Given the description of an element on the screen output the (x, y) to click on. 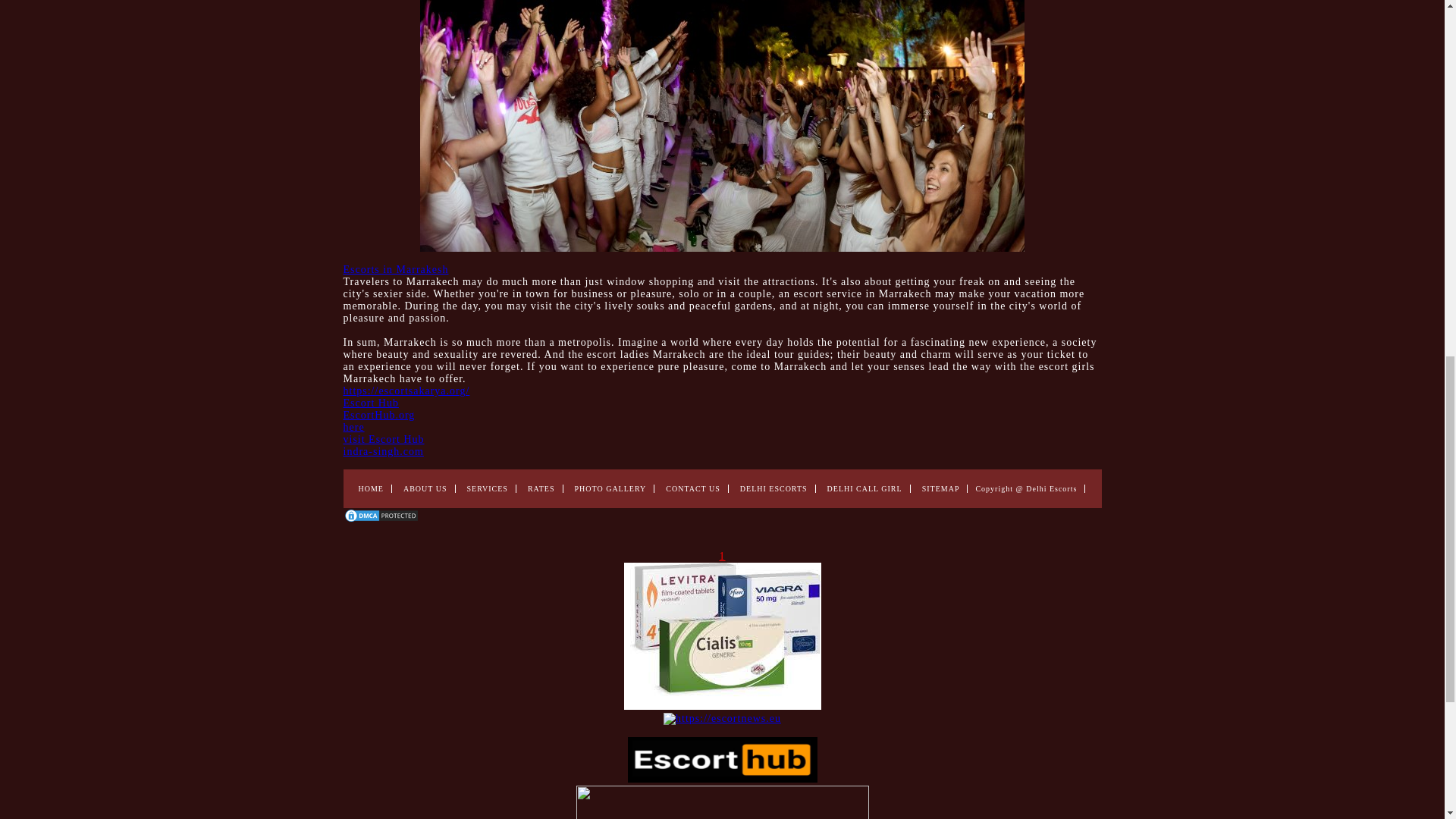
DMCA.com Protection Status (380, 519)
RATES (540, 488)
SERVICES (487, 488)
DELHI CALL GIRL (864, 488)
HOME (370, 488)
DELHI ESCORTS (773, 488)
here (353, 427)
indra-singh.com (382, 451)
PHOTO GALLERY (610, 488)
ABOUT US (424, 488)
